Given the description of an element on the screen output the (x, y) to click on. 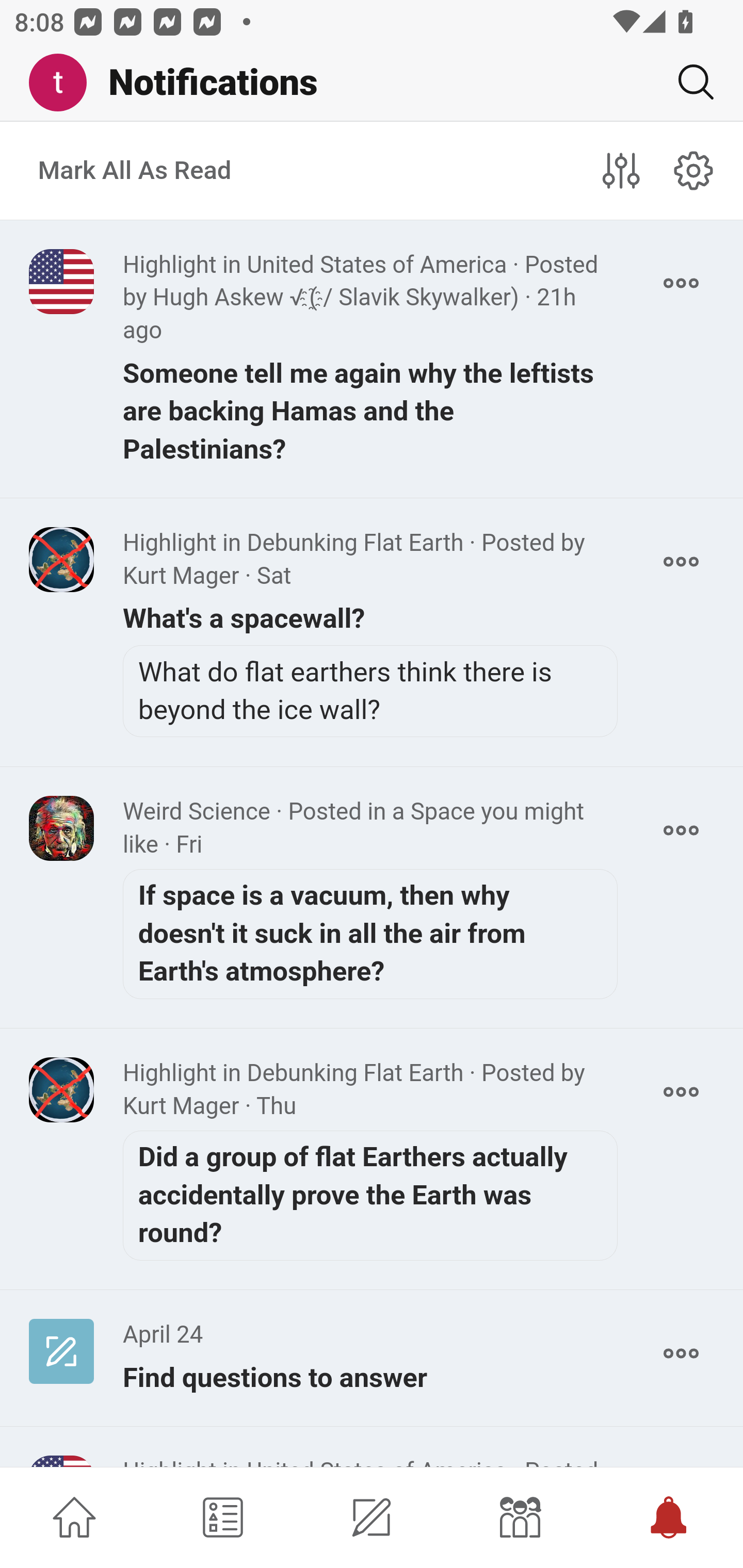
Me Notifications Search (371, 82)
Me (64, 83)
Search (688, 82)
Mark All As Read (135, 171)
notifications# (693, 170)
More (681, 282)
More (681, 560)
More (681, 829)
More (681, 1091)
More (681, 1353)
